Given the description of an element on the screen output the (x, y) to click on. 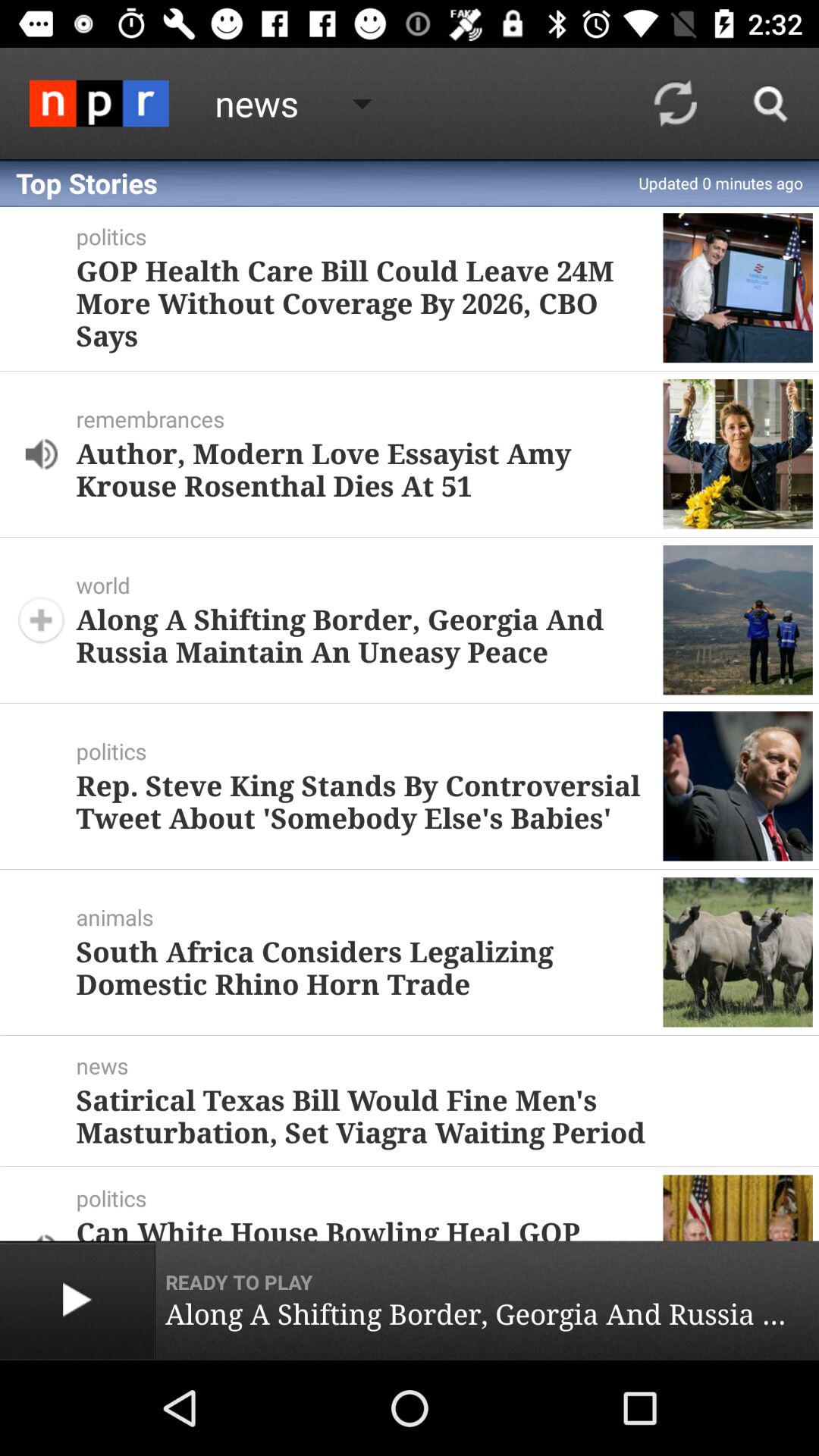
open icon to the right of the top stories item (675, 103)
